Given the description of an element on the screen output the (x, y) to click on. 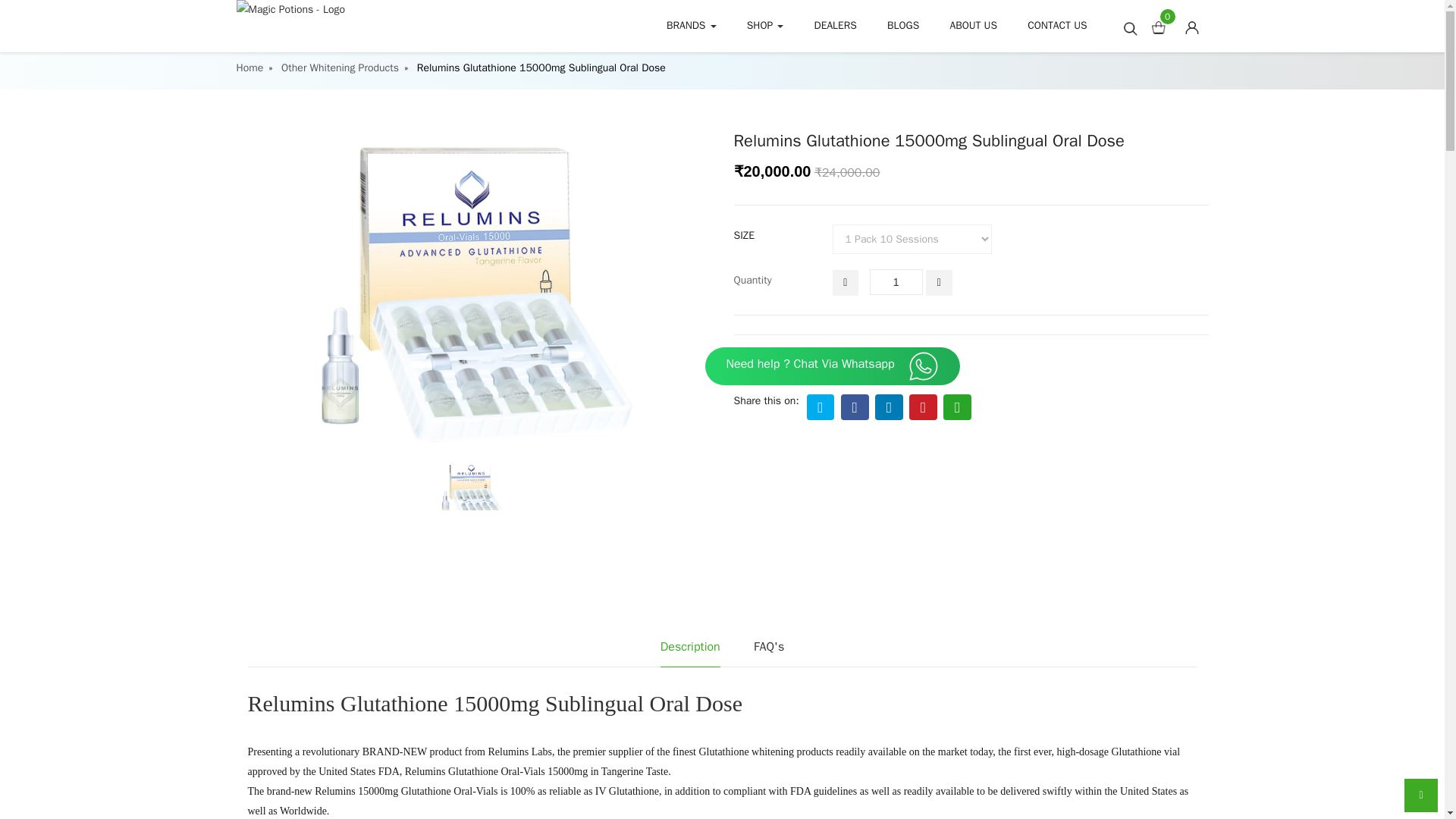
Shopping cart (1196, 25)
1 (896, 281)
Magic Potions - Logo (349, 9)
Shopping cart (1162, 25)
SHOP (765, 25)
Shopping Bag (1157, 27)
BRANDS (691, 25)
0 (1162, 25)
user (1191, 27)
Search (1130, 28)
